Given the description of an element on the screen output the (x, y) to click on. 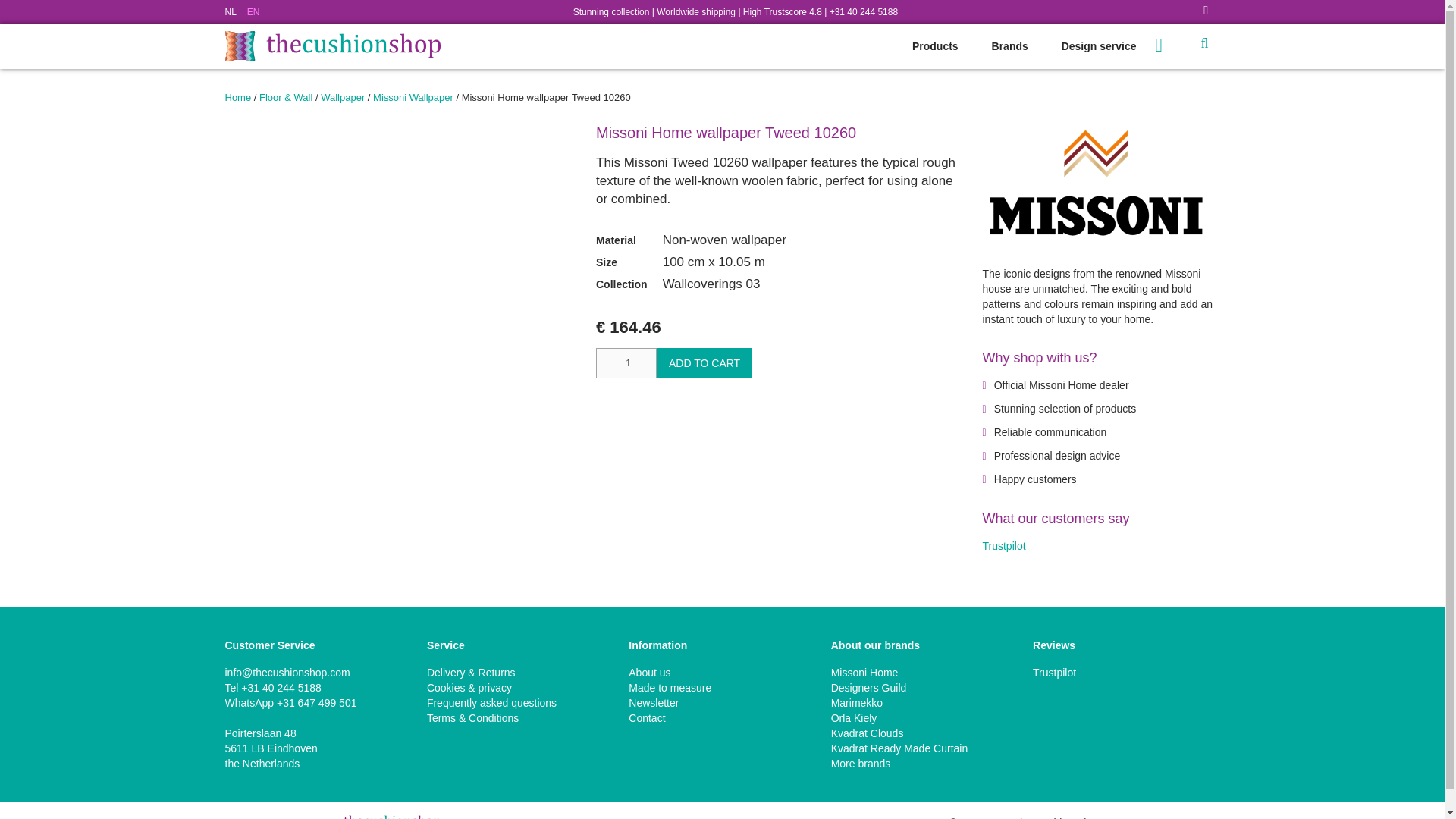
To cart (1171, 44)
The Cushion Shop (331, 46)
1 (625, 363)
Products (935, 45)
